Given the description of an element on the screen output the (x, y) to click on. 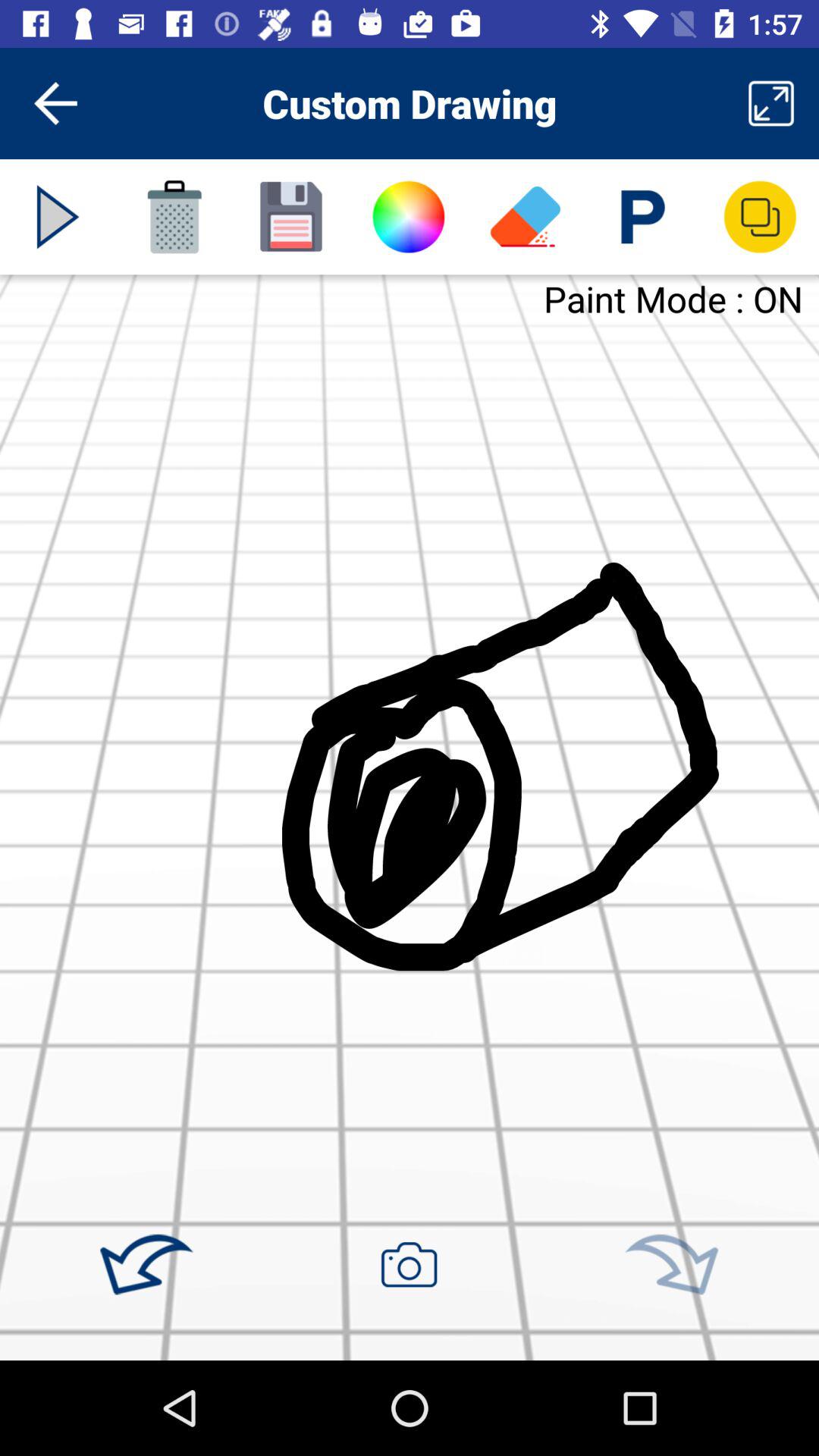
rotate right (671, 1264)
